Given the description of an element on the screen output the (x, y) to click on. 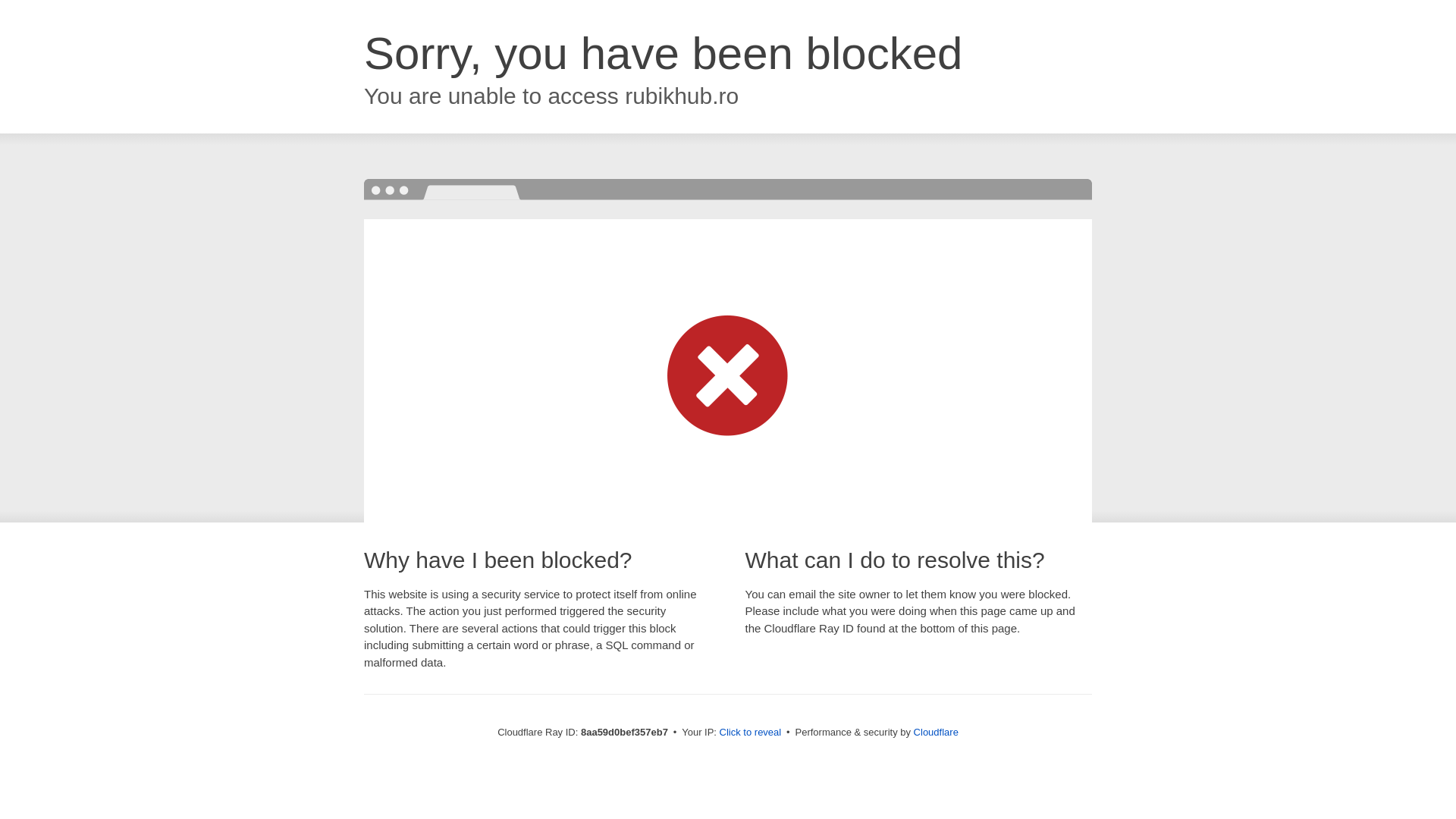
Click to reveal (750, 732)
Cloudflare (936, 731)
